Given the description of an element on the screen output the (x, y) to click on. 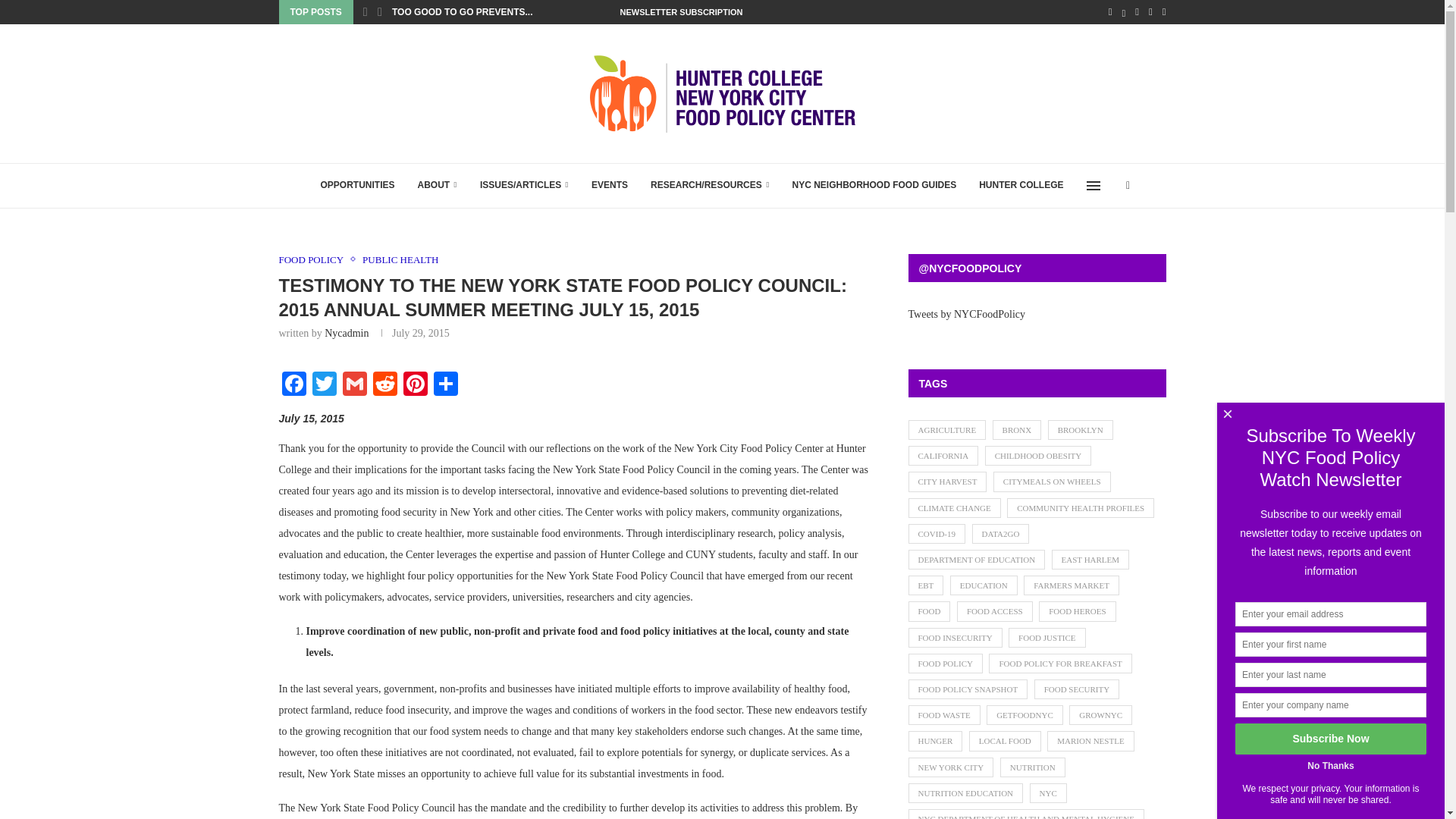
OPPORTUNITIES (357, 185)
Facebook (293, 385)
NEWSLETTER SUBSCRIPTION (681, 12)
Gmail (354, 385)
Reddit (384, 385)
TOO GOOD TO GO PREVENTS... (461, 12)
Twitter (323, 385)
Pinterest (415, 385)
Subscribe Now (1330, 738)
ABOUT (436, 185)
